Given the description of an element on the screen output the (x, y) to click on. 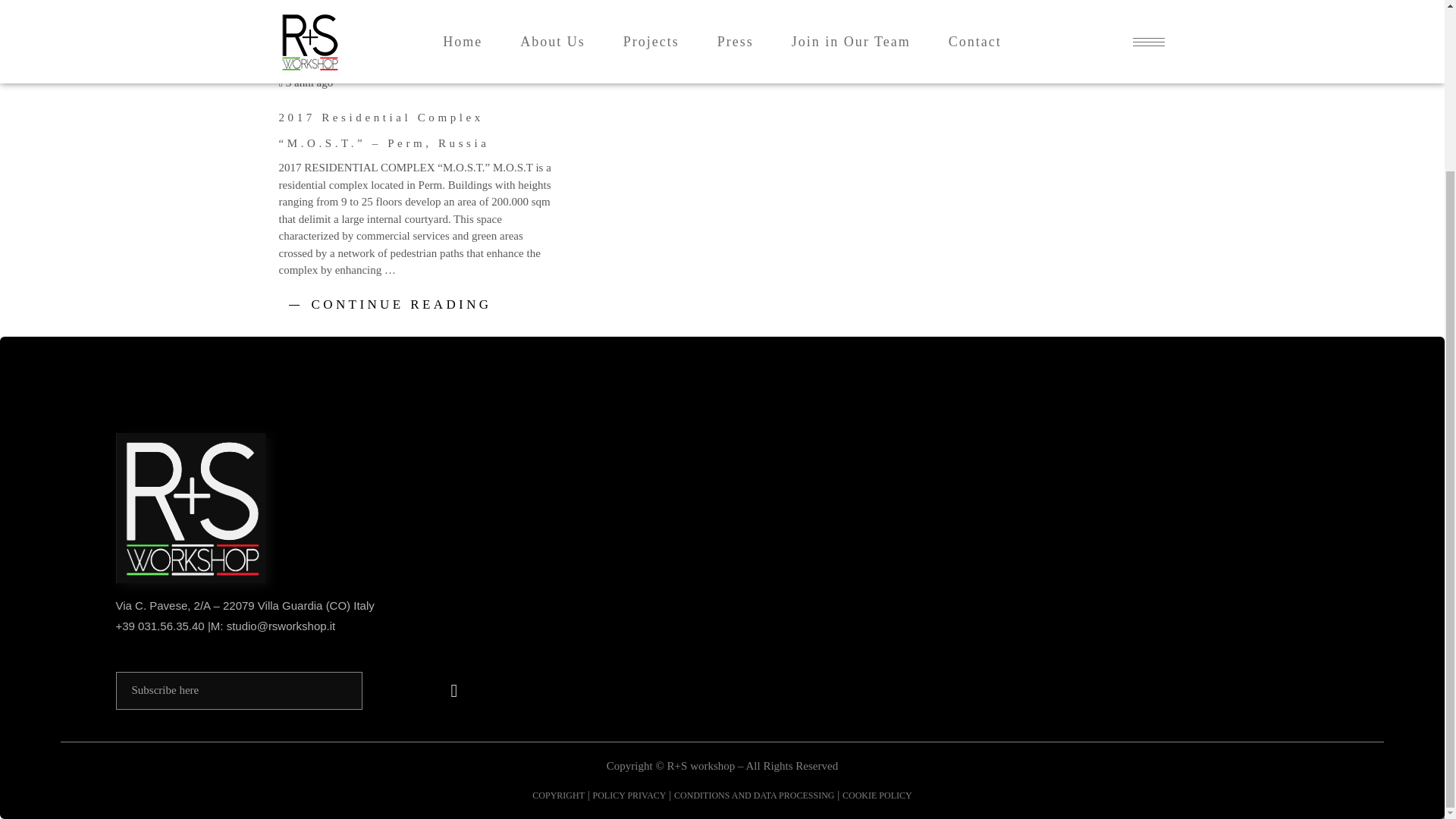
Invia (454, 690)
Invia (454, 690)
COOKIE POLICY (877, 795)
CONDITIONS AND DATA PROCESSING (754, 795)
CONTINUE READING (401, 304)
COPYRIGHT (558, 795)
POLICY PRIVACY (629, 795)
3 anni ago (306, 82)
